Given the description of an element on the screen output the (x, y) to click on. 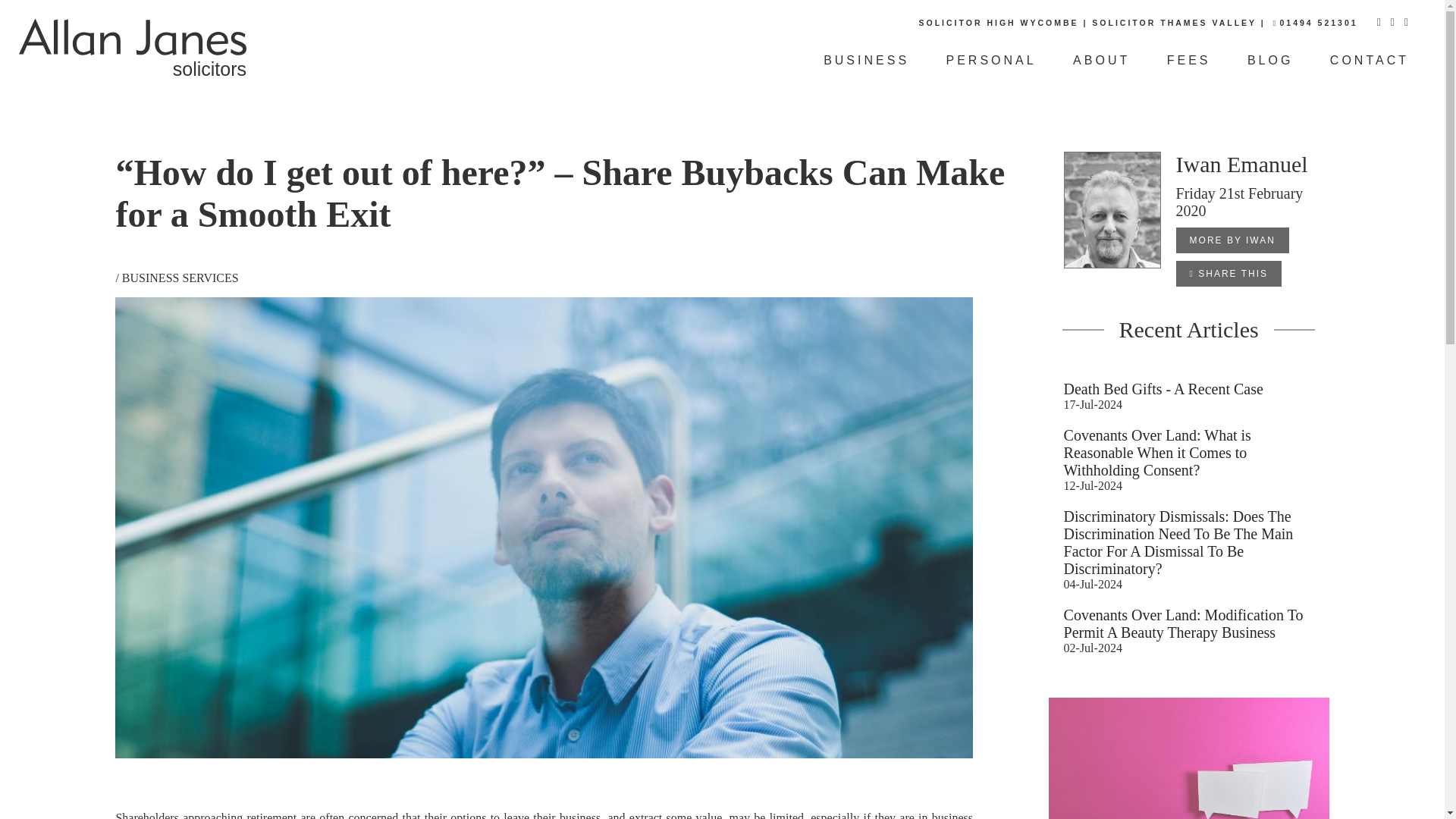
BUSINESS SERVICES (132, 62)
FEES (180, 277)
AJlogoAsset 2 (1189, 60)
BLOG (132, 36)
PERSONAL (1269, 60)
BUSINESS (991, 60)
CONTACT (866, 60)
ABOUT (1369, 60)
